Given the description of an element on the screen output the (x, y) to click on. 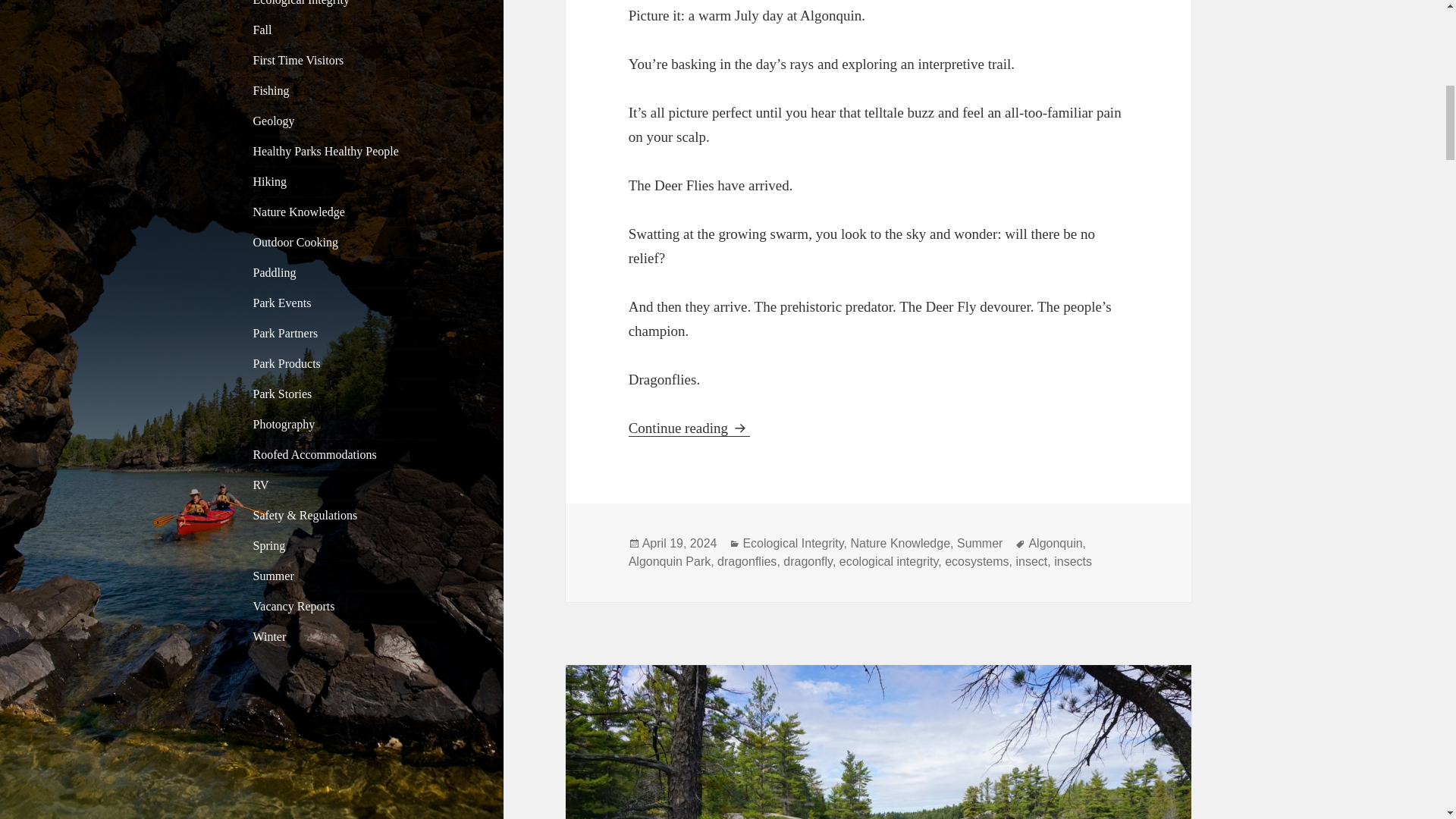
Healthy Parks Healthy People (325, 151)
Vacancy Reports (293, 605)
First Time Visitors (298, 60)
Ecological Integrity (301, 2)
Park Stories (283, 393)
Nature Knowledge (299, 211)
RV (261, 484)
Spring (269, 545)
Park Partners (285, 332)
Outdoor Cooking (295, 241)
Park Products (286, 363)
Park Events (282, 302)
Fishing (271, 90)
Roofed Accommodations (315, 454)
Fall (262, 29)
